Given the description of an element on the screen output the (x, y) to click on. 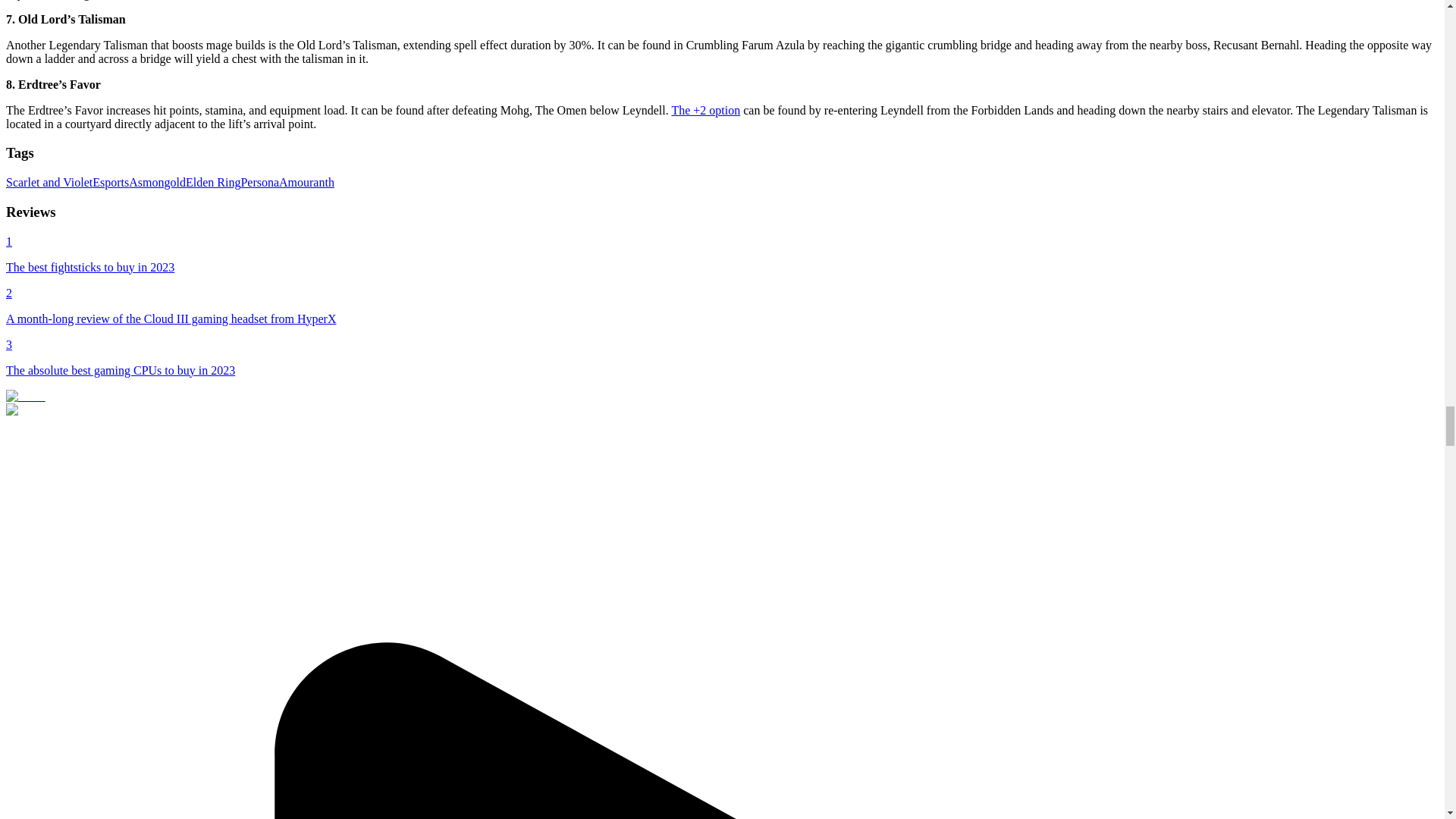
Asmongold (157, 182)
Esports (111, 182)
Amouranth (306, 182)
Elden Ring (213, 182)
Scarlet and Violet (49, 182)
Persona (259, 182)
